Given the description of an element on the screen output the (x, y) to click on. 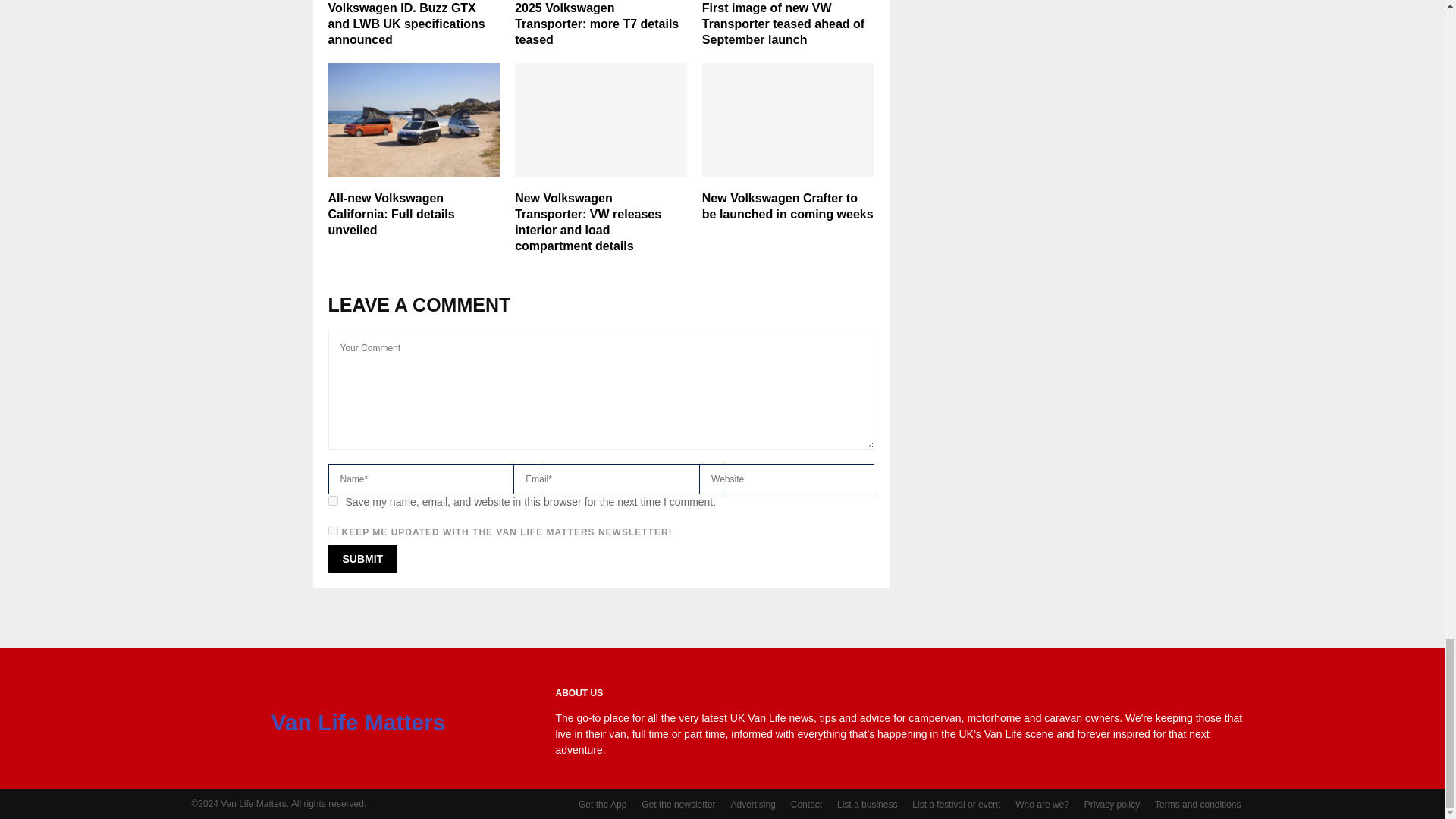
yes (332, 501)
1 (332, 530)
Submit (362, 558)
